Given the description of an element on the screen output the (x, y) to click on. 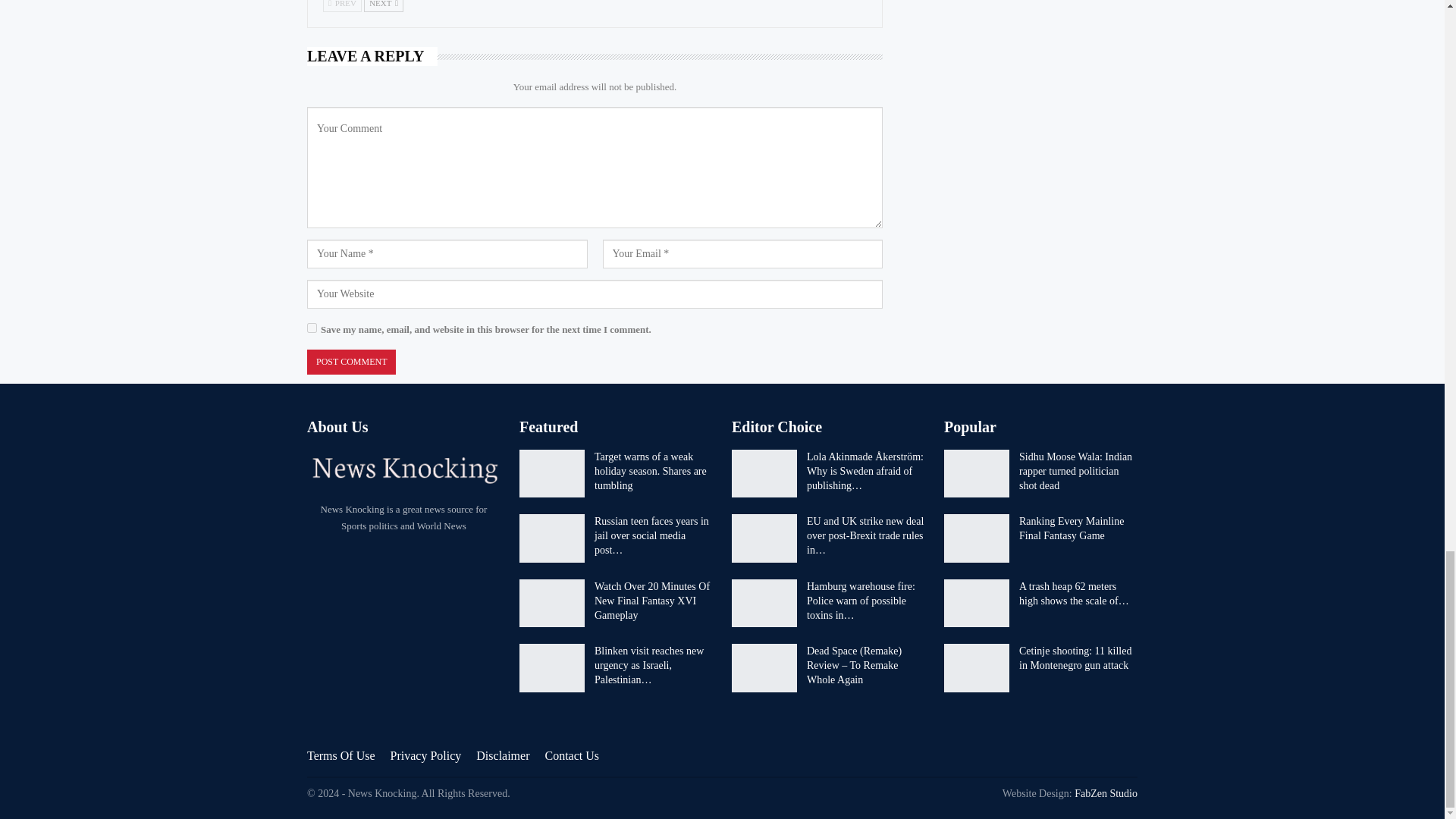
Post Comment (351, 361)
yes (312, 327)
